Given the description of an element on the screen output the (x, y) to click on. 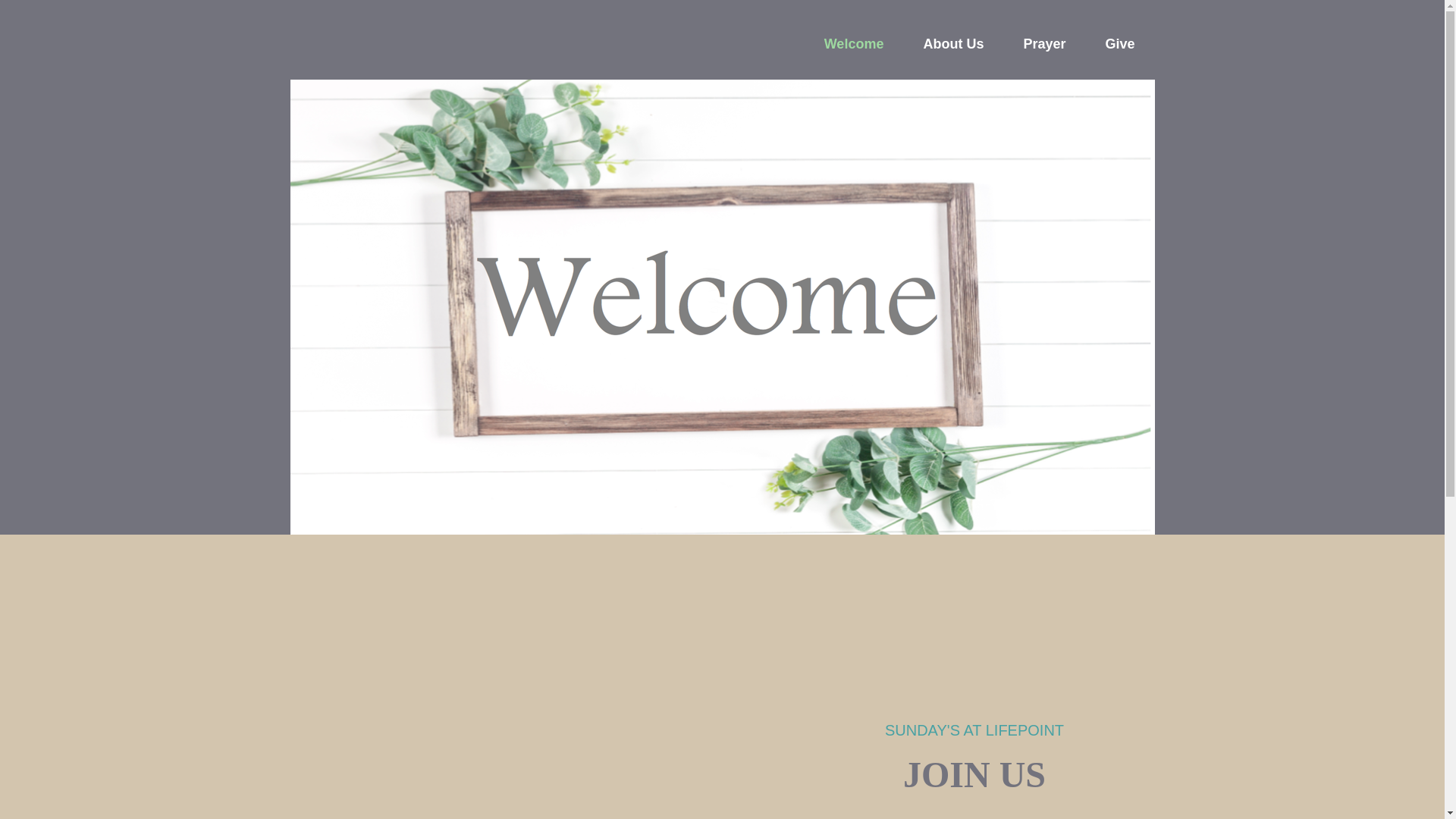
About Us (953, 44)
Prayer (1044, 44)
Give (1119, 44)
Welcome (853, 44)
